Given the description of an element on the screen output the (x, y) to click on. 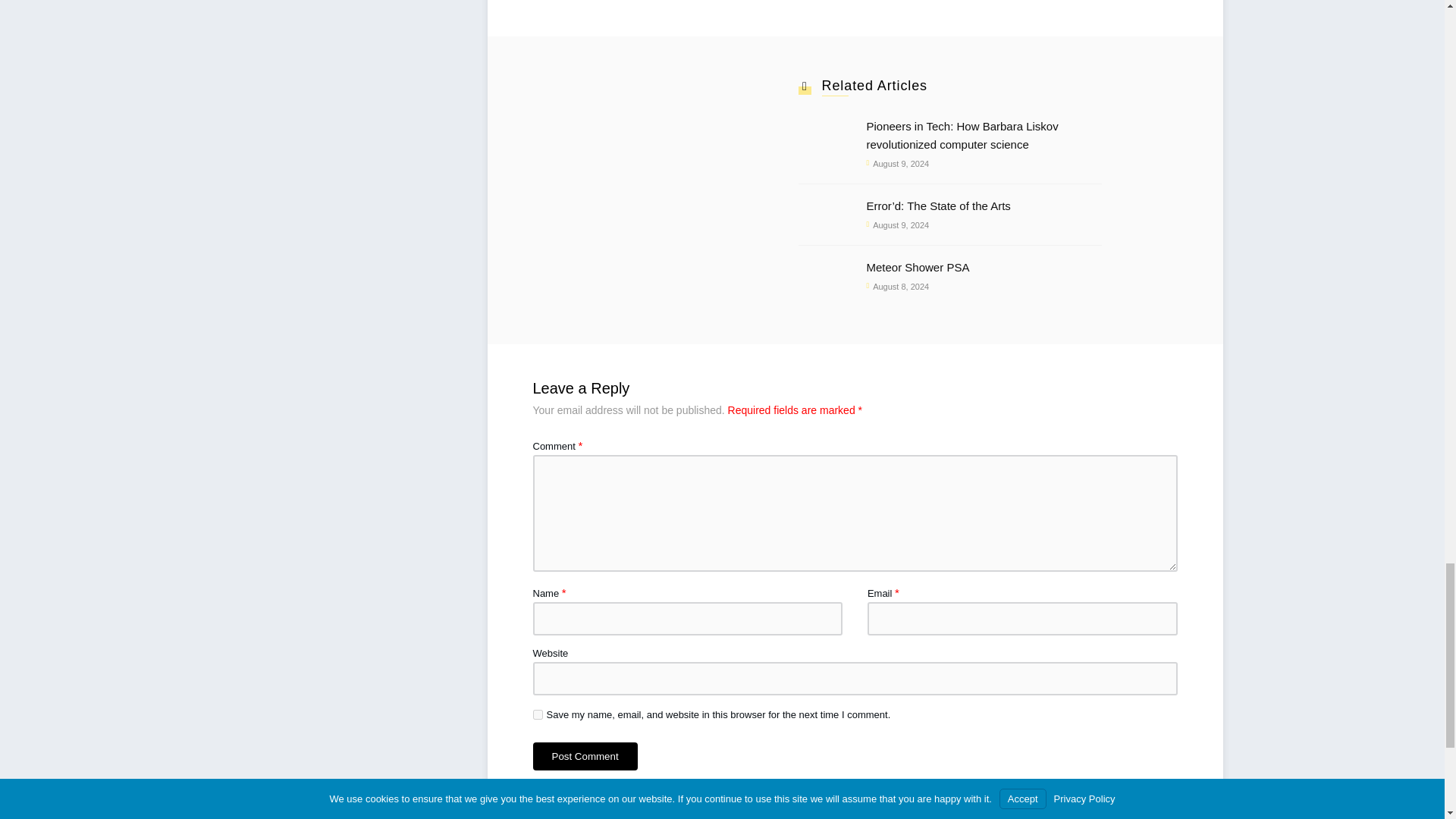
yes (536, 714)
Meteor Shower PSA (983, 267)
Post Comment (584, 756)
Post Comment (584, 756)
